Given the description of an element on the screen output the (x, y) to click on. 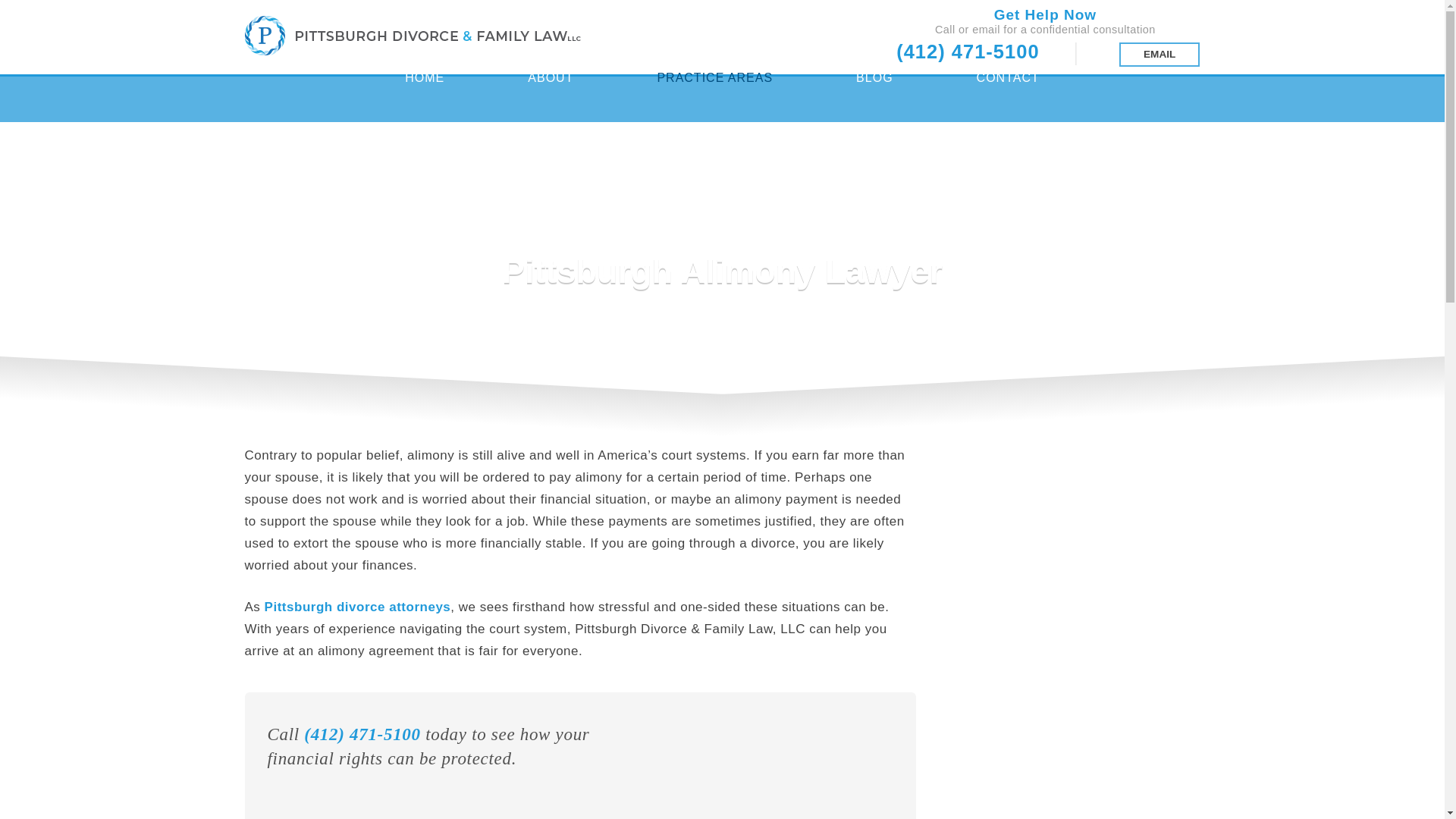
Pittsburgh divorce attorney link (357, 606)
HOME (424, 96)
EMAIL (1159, 54)
BLOG (874, 96)
ABOUT (550, 96)
Pittsburgh divorce attorneys (357, 606)
PRACTICE AREAS (714, 96)
CONTACT (1008, 96)
Call Pittsburgh Divorce and Family Law, LLC Today (362, 733)
